Given the description of an element on the screen output the (x, y) to click on. 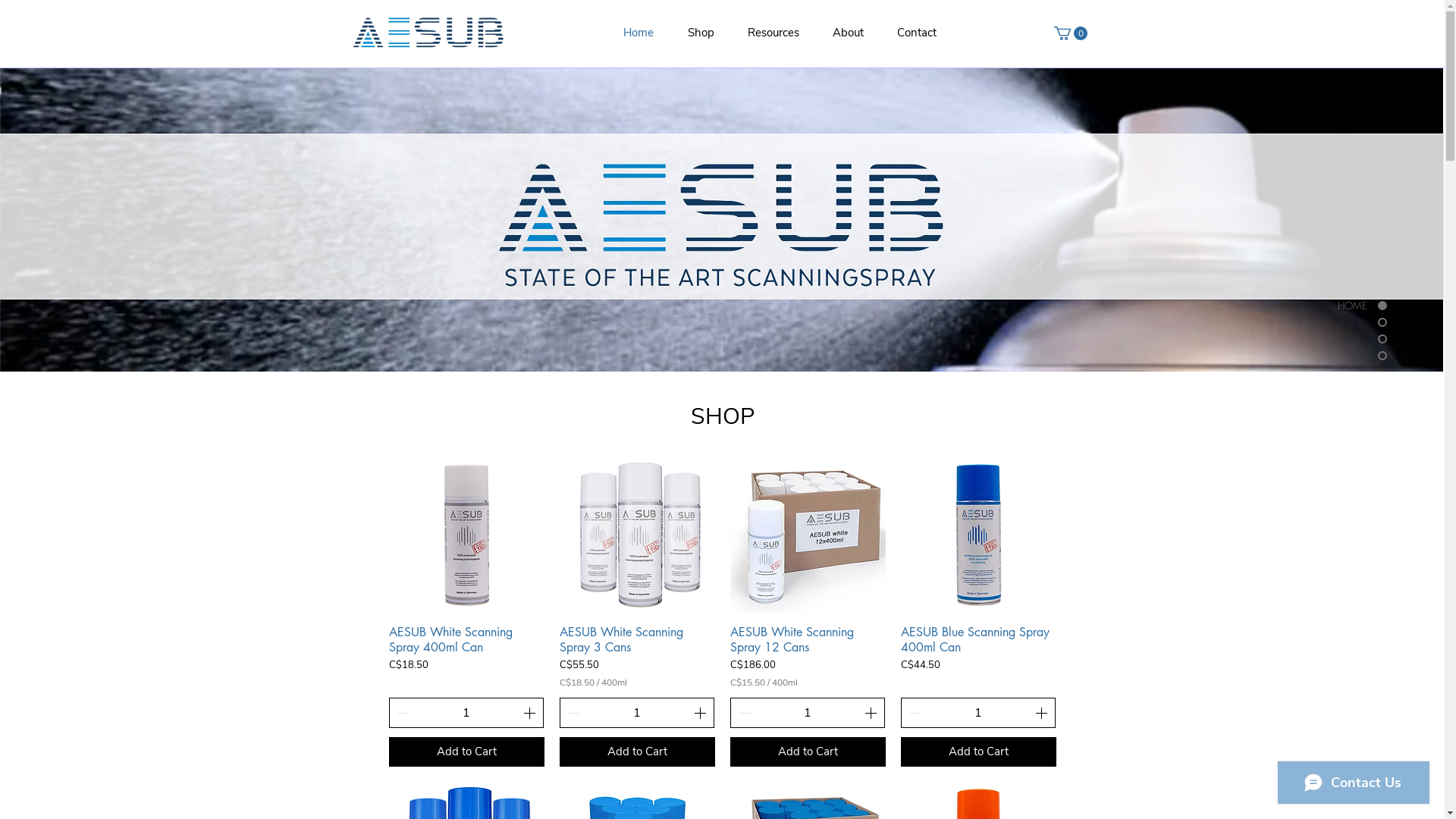
HOME Element type: text (1339, 305)
About Element type: text (847, 32)
Add to Cart Element type: text (978, 751)
Add to Cart Element type: text (806, 751)
Add to Cart Element type: text (637, 751)
0 Element type: text (1070, 33)
Add to Cart Element type: text (465, 751)
AESUB Blue Scanning Spray 400ml Can
Price
C$44.50 Element type: text (978, 656)
Contact Element type: text (915, 32)
AESUB White Scanning Spray 400ml Can
Price
C$18.50 Element type: text (465, 656)
Home Element type: text (638, 32)
Shop Element type: text (699, 32)
